Given the description of an element on the screen output the (x, y) to click on. 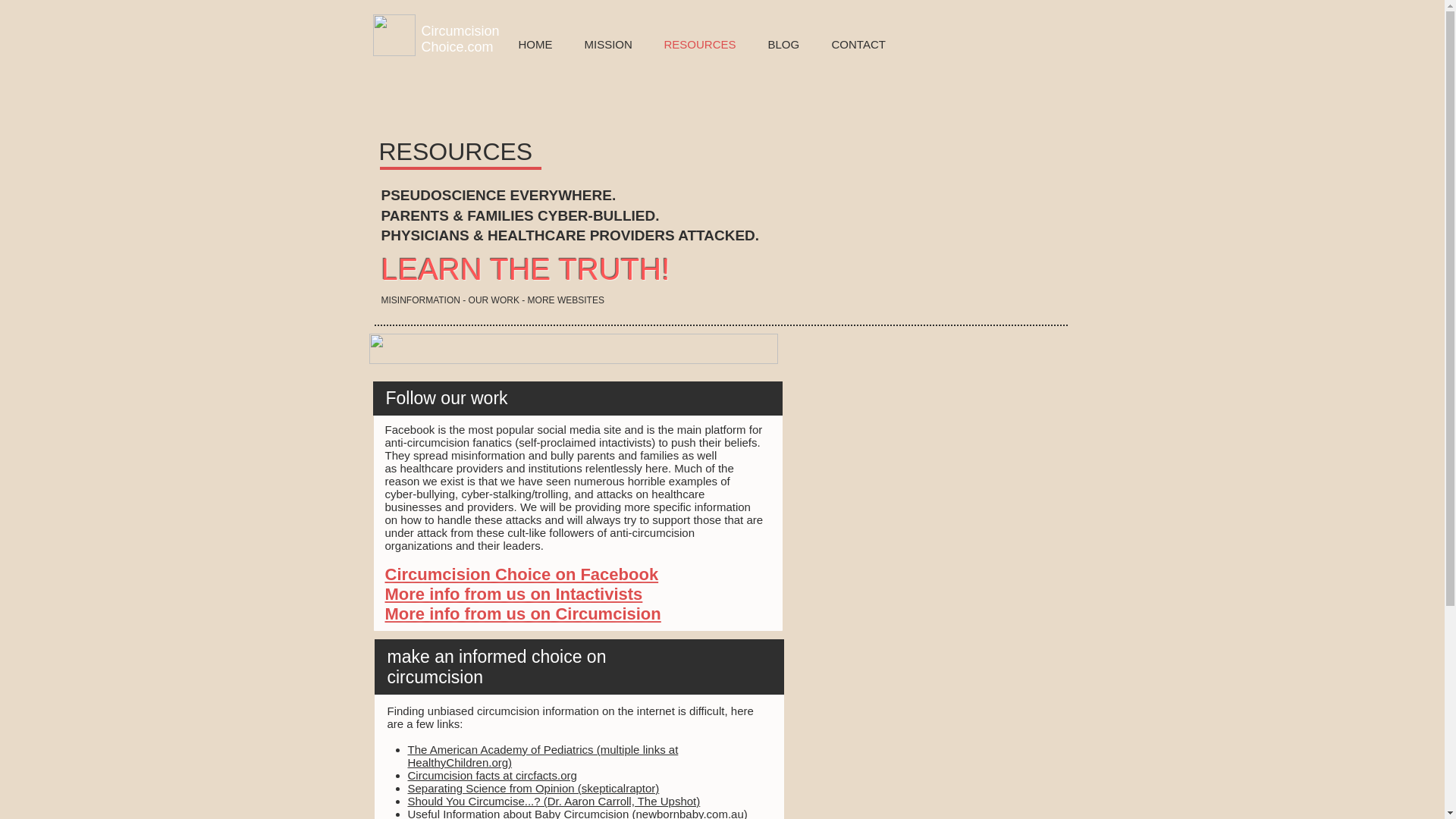
MISSION (608, 44)
BLOG (783, 44)
CONTACT (858, 44)
Circumcision facts at circfacts.org (491, 775)
HOME (534, 44)
RESOURCES (699, 44)
More info from us on Intactivists (514, 593)
More info from us on Circumcision (523, 613)
Circumcision Choice on Facebook (522, 574)
Circumcision (460, 30)
